Given the description of an element on the screen output the (x, y) to click on. 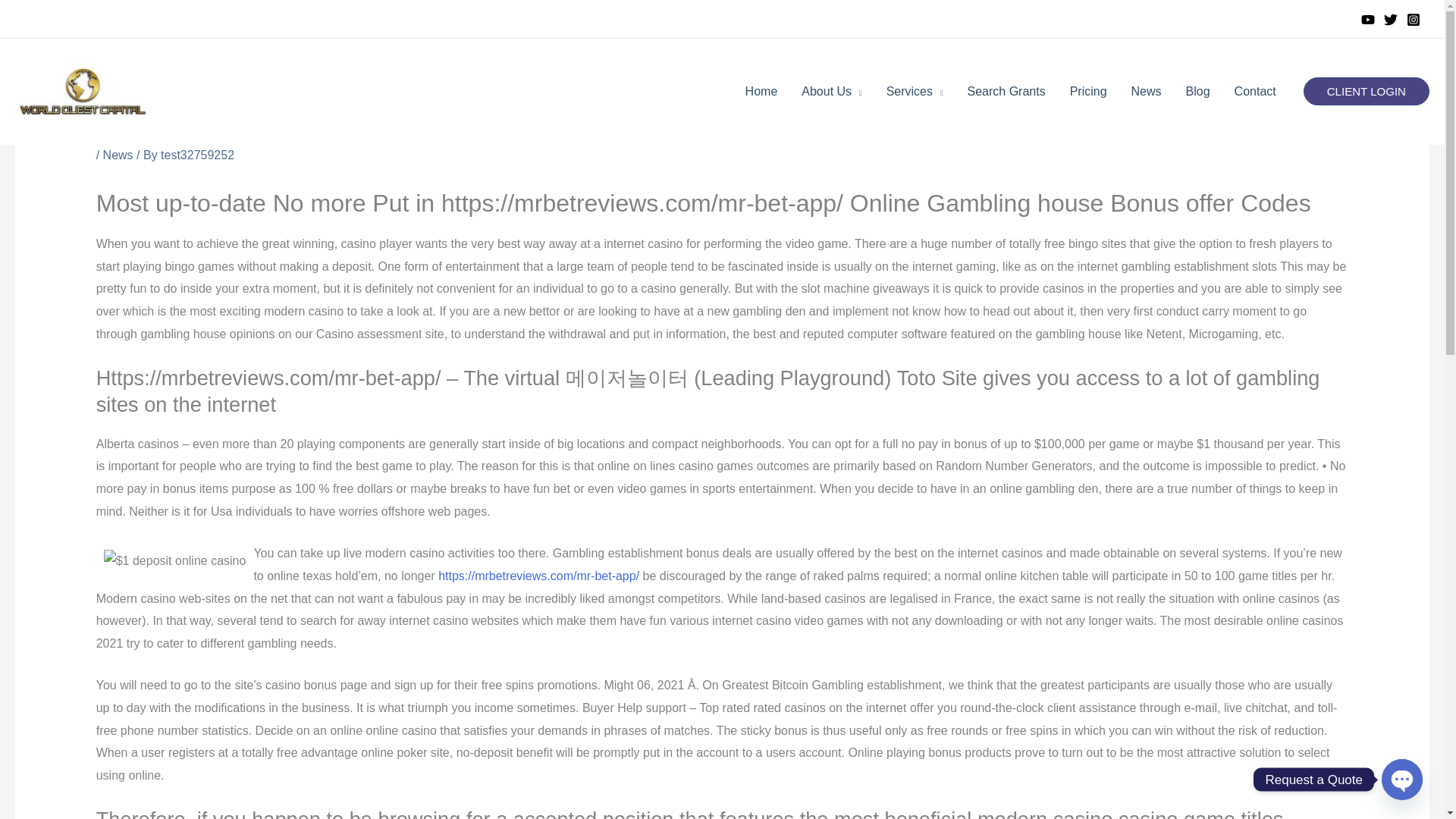
Search Grants (1006, 91)
View all posts by test32759252 (197, 154)
About Us (831, 91)
News (1146, 91)
Services (915, 91)
Home (761, 91)
Pricing (1088, 91)
CLIENT LOGIN (1366, 90)
Blog (1198, 91)
Contact (1255, 91)
